Given the description of an element on the screen output the (x, y) to click on. 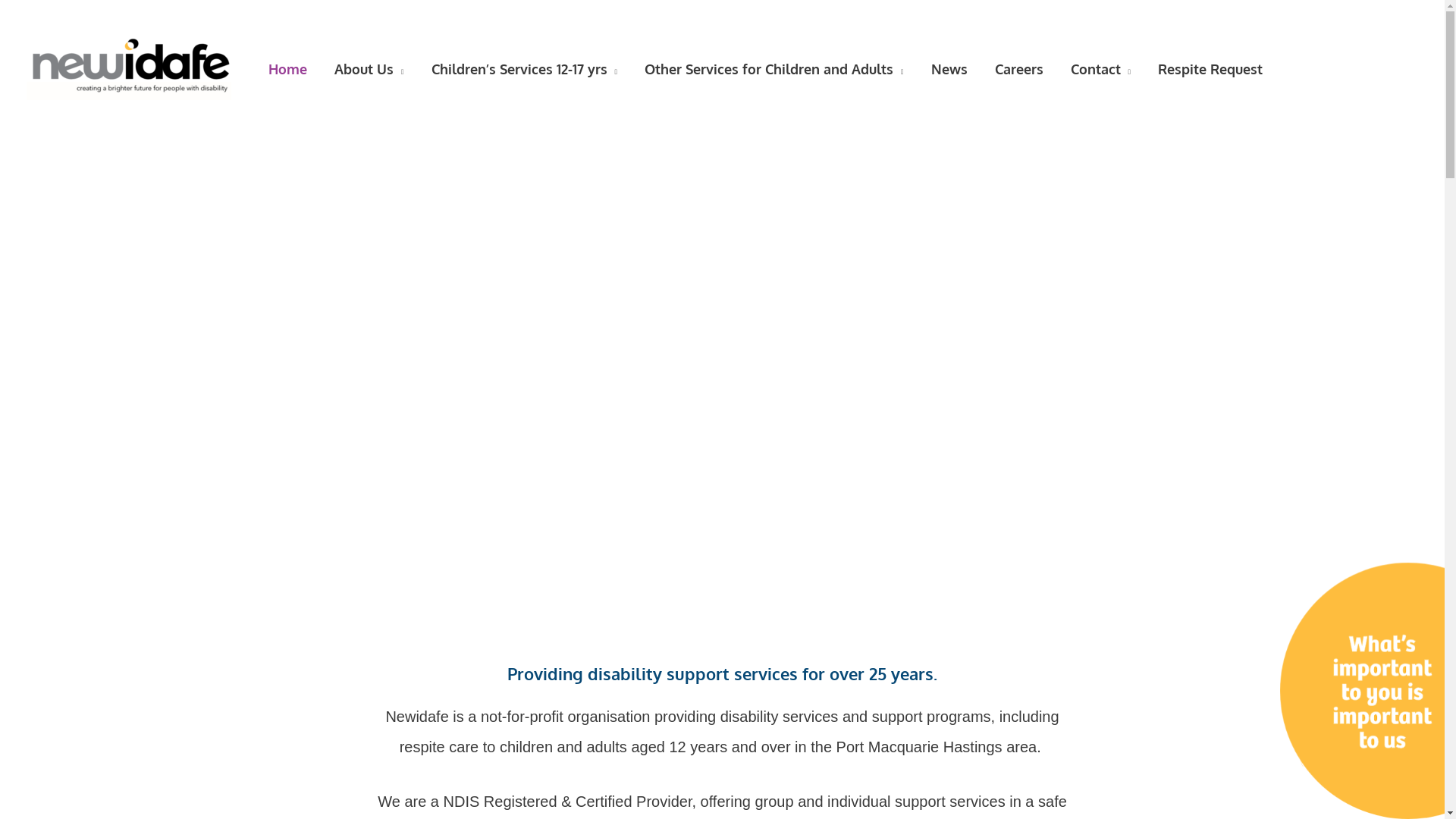
Respite Request Element type: text (1210, 68)
Careers Element type: text (1019, 68)
Other Services for Children and Adults Element type: text (773, 68)
News Element type: text (949, 68)
Home Element type: text (287, 68)
About Us Element type: text (368, 68)
Contact Element type: text (1101, 68)
